Given the description of an element on the screen output the (x, y) to click on. 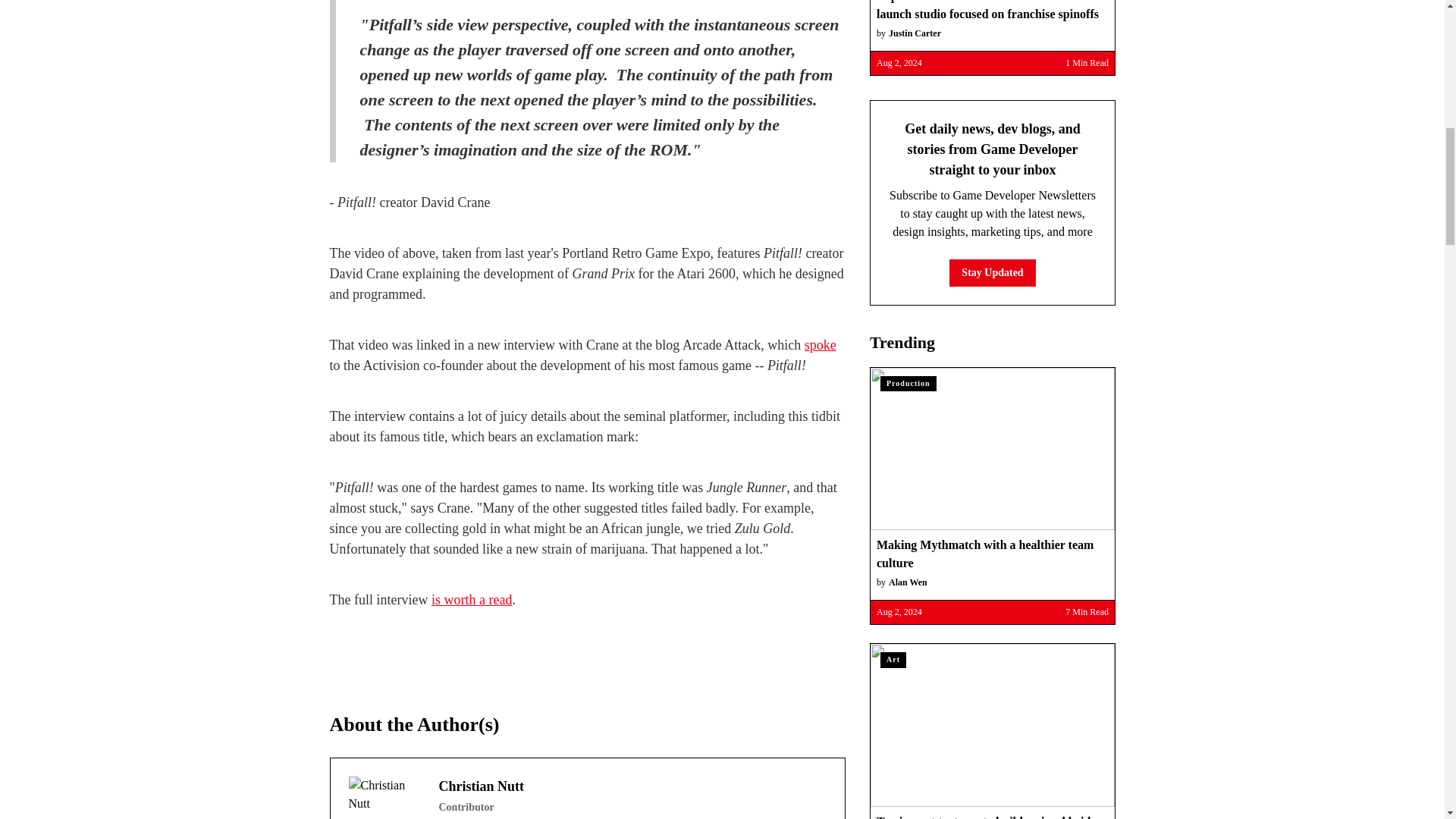
Christian Nutt (384, 797)
